Given the description of an element on the screen output the (x, y) to click on. 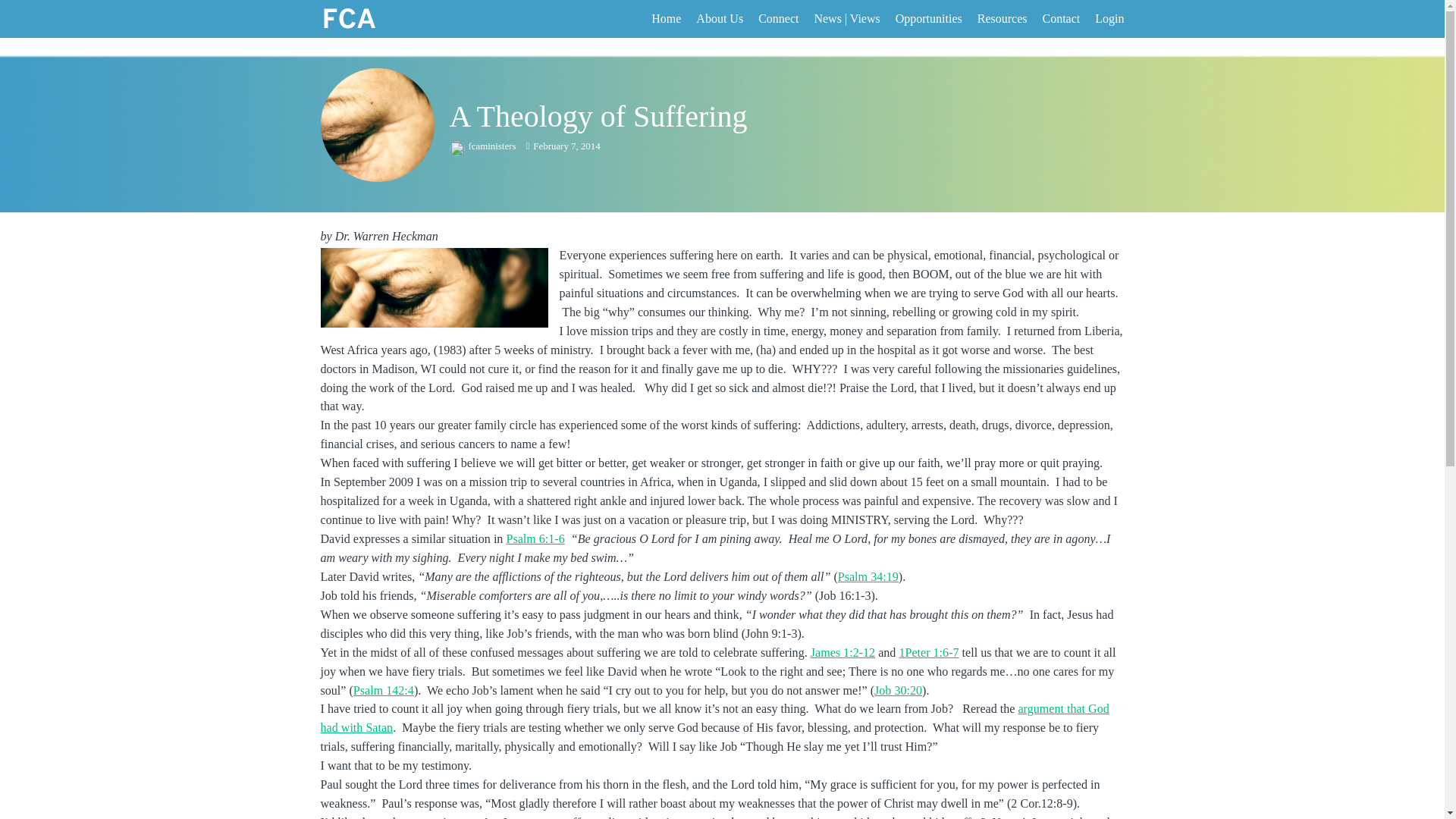
About Us (718, 18)
View all posts by fcaministers (483, 145)
Resources (1001, 18)
Opportunities (928, 18)
FCAministers.com (363, 18)
3:29 pm (562, 145)
Connect (777, 18)
Home (665, 18)
